Given the description of an element on the screen output the (x, y) to click on. 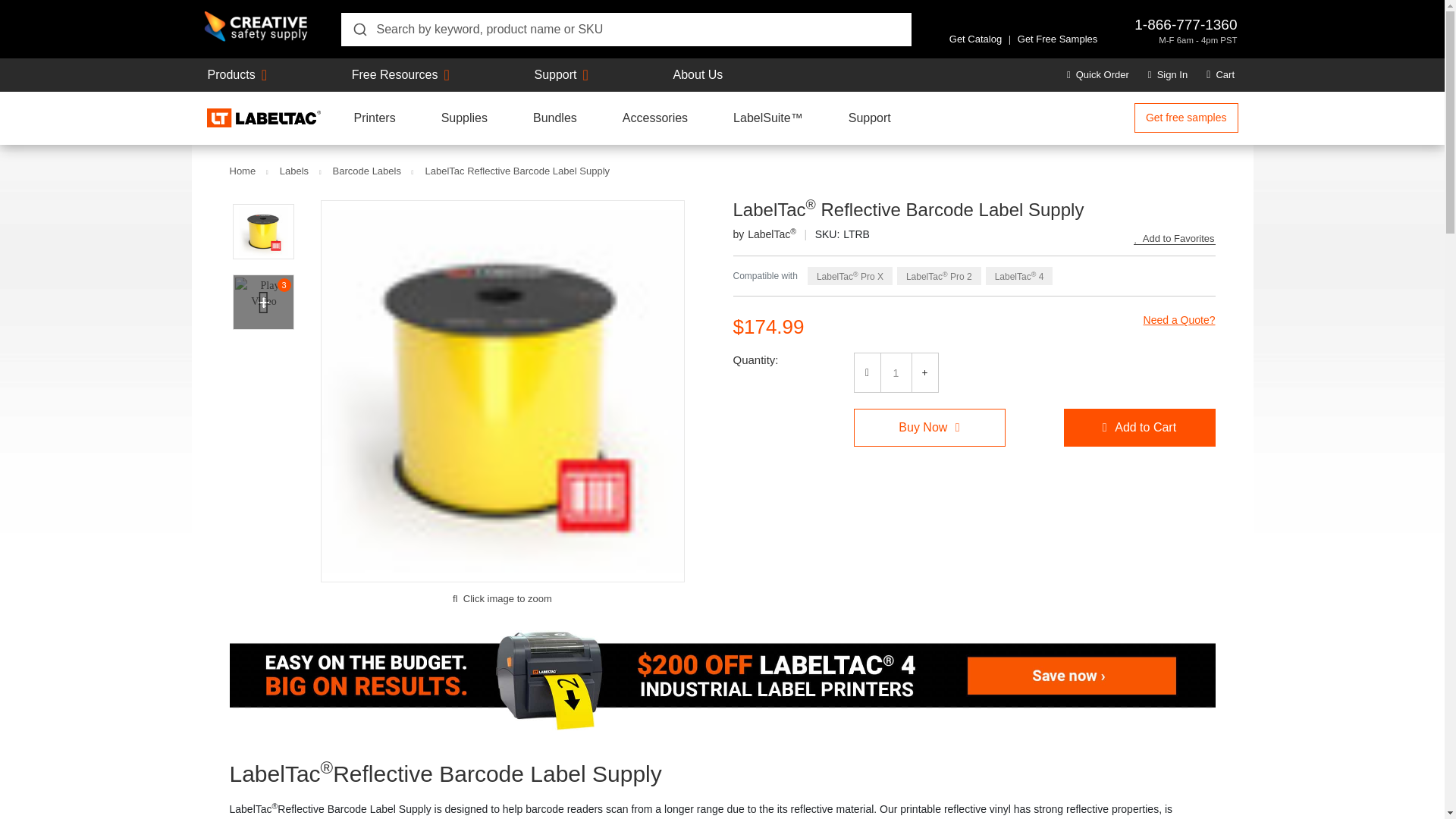
Get Free Samples (1057, 39)
1-866-777-1360 (1185, 24)
Products (232, 74)
Creative Safety Supply logo (255, 26)
Get Catalog (975, 39)
